Given the description of an element on the screen output the (x, y) to click on. 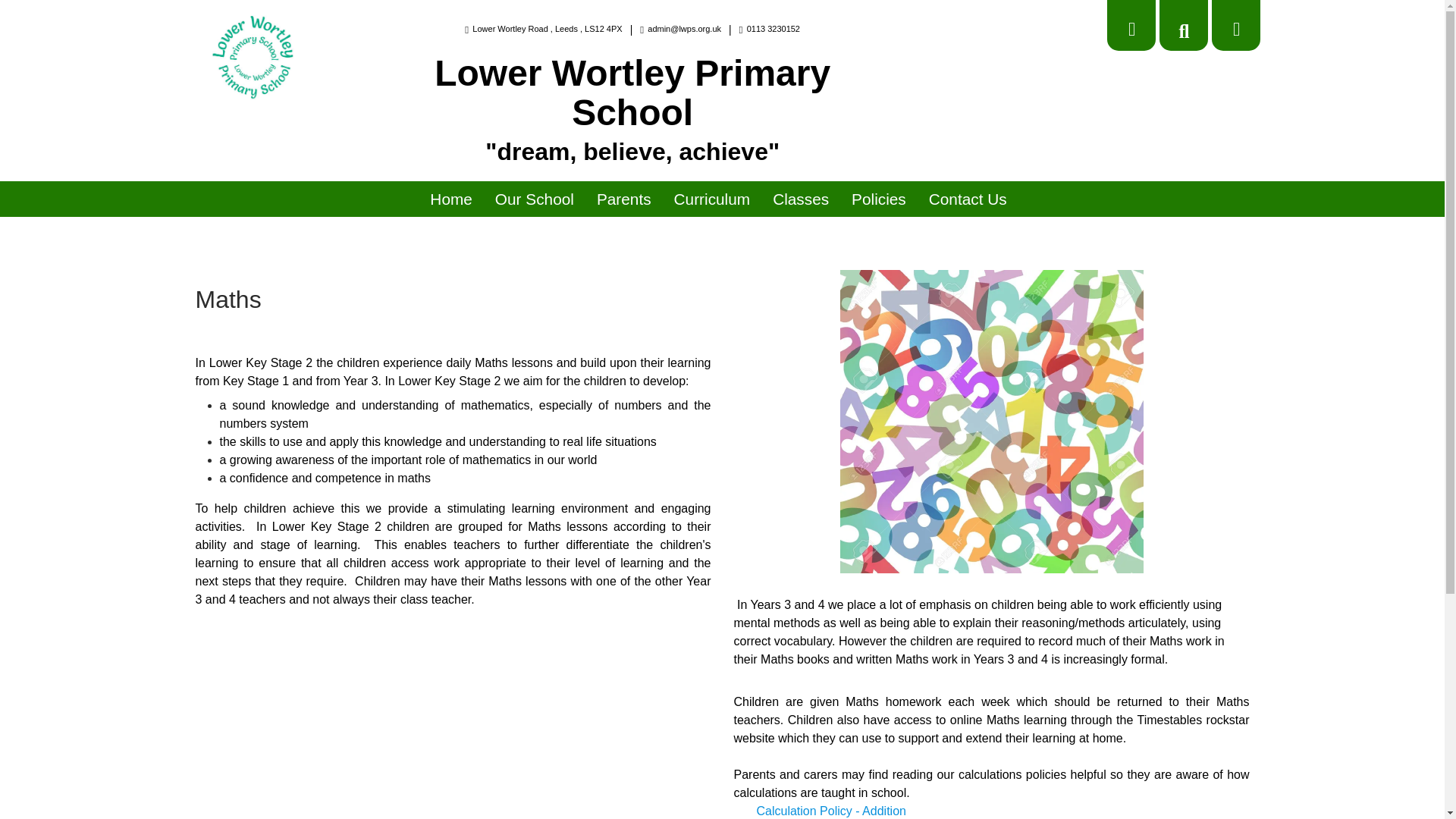
Lower Wortley Primary School - "dream, believe, achieve" (255, 57)
Parents (624, 198)
Classes (800, 198)
Home (450, 198)
Our School (533, 198)
Curriculum (712, 198)
